Given the description of an element on the screen output the (x, y) to click on. 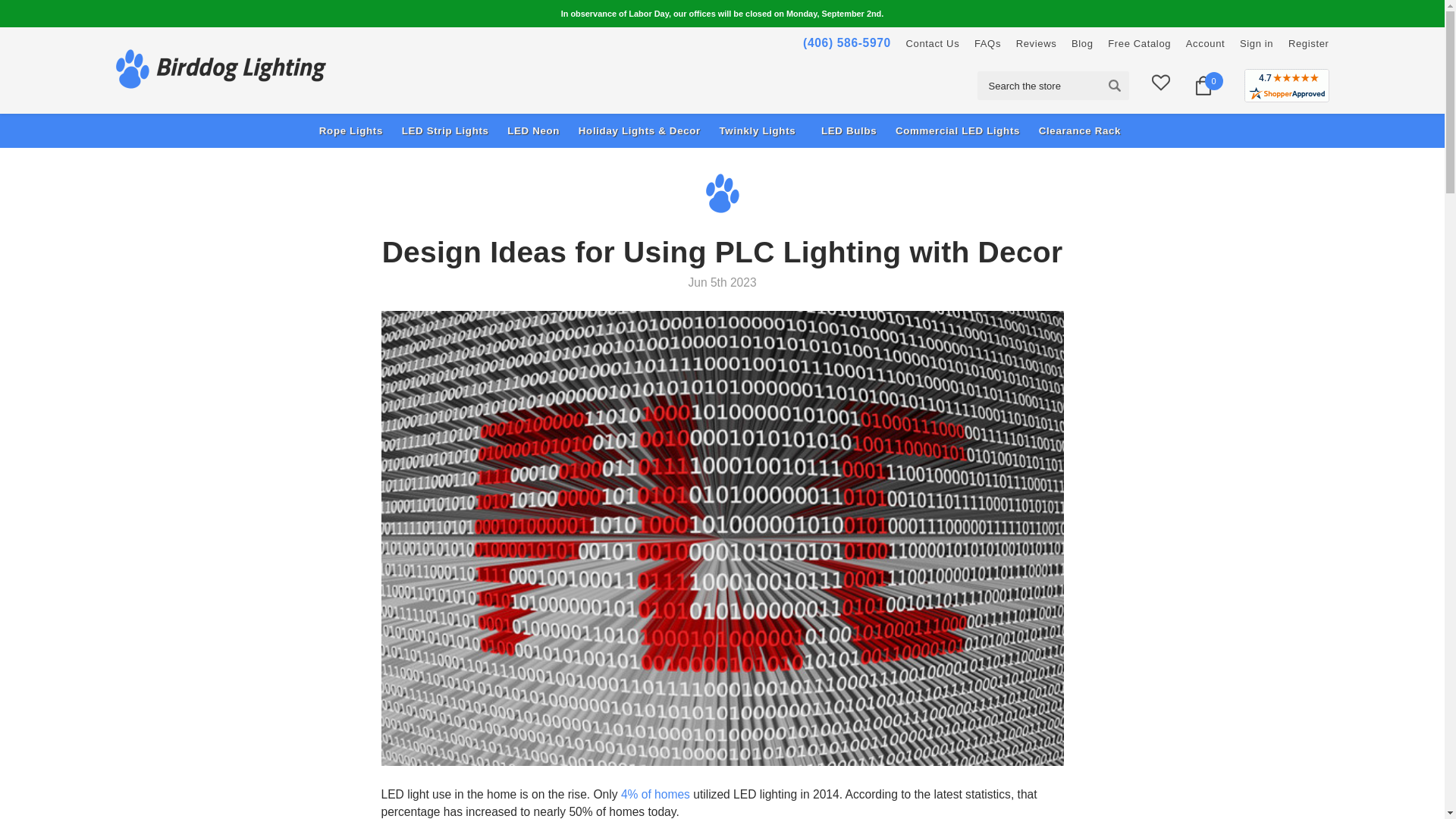
Reviews (1036, 43)
Sign in (1256, 43)
FAQs (987, 43)
Blog (1082, 43)
Register (1308, 43)
Account (1205, 43)
Rope Lights (352, 130)
Free Catalog (1139, 43)
0 (1202, 85)
